Given the description of an element on the screen output the (x, y) to click on. 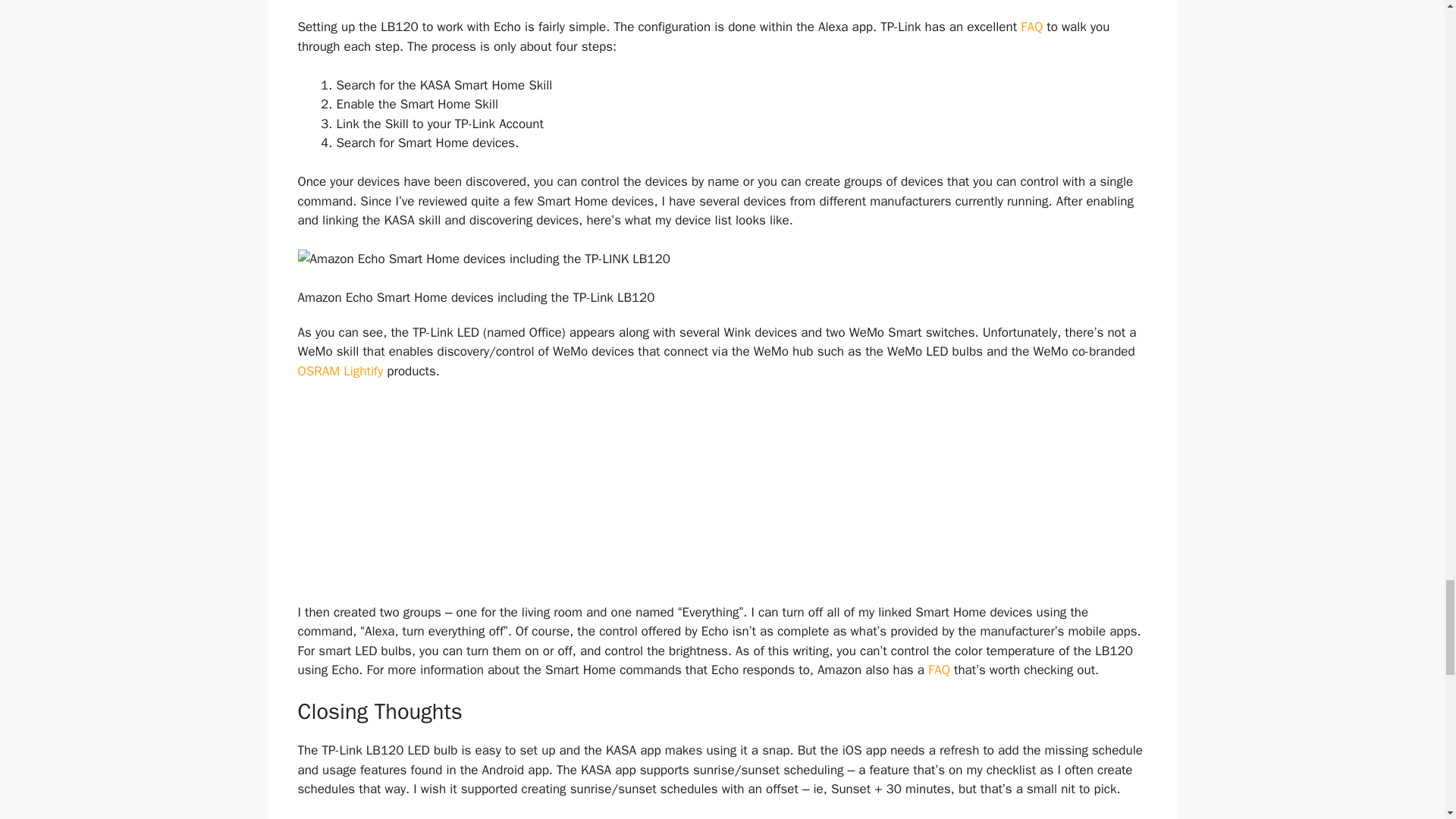
Amazon Echo Smart Home devices including the TP-LINK LB120 (722, 259)
